Given the description of an element on the screen output the (x, y) to click on. 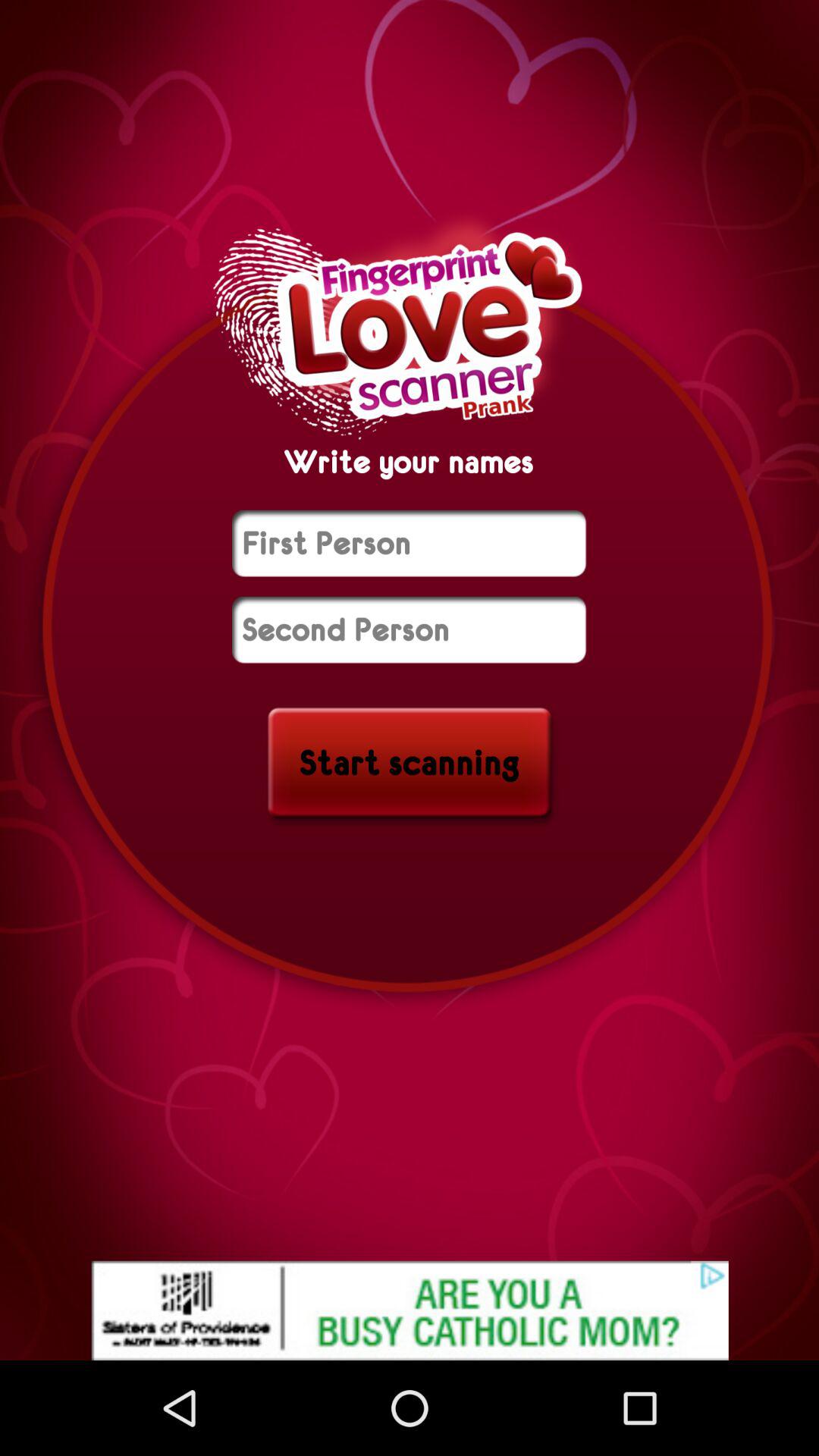
sponsored advertisement (409, 1310)
